Given the description of an element on the screen output the (x, y) to click on. 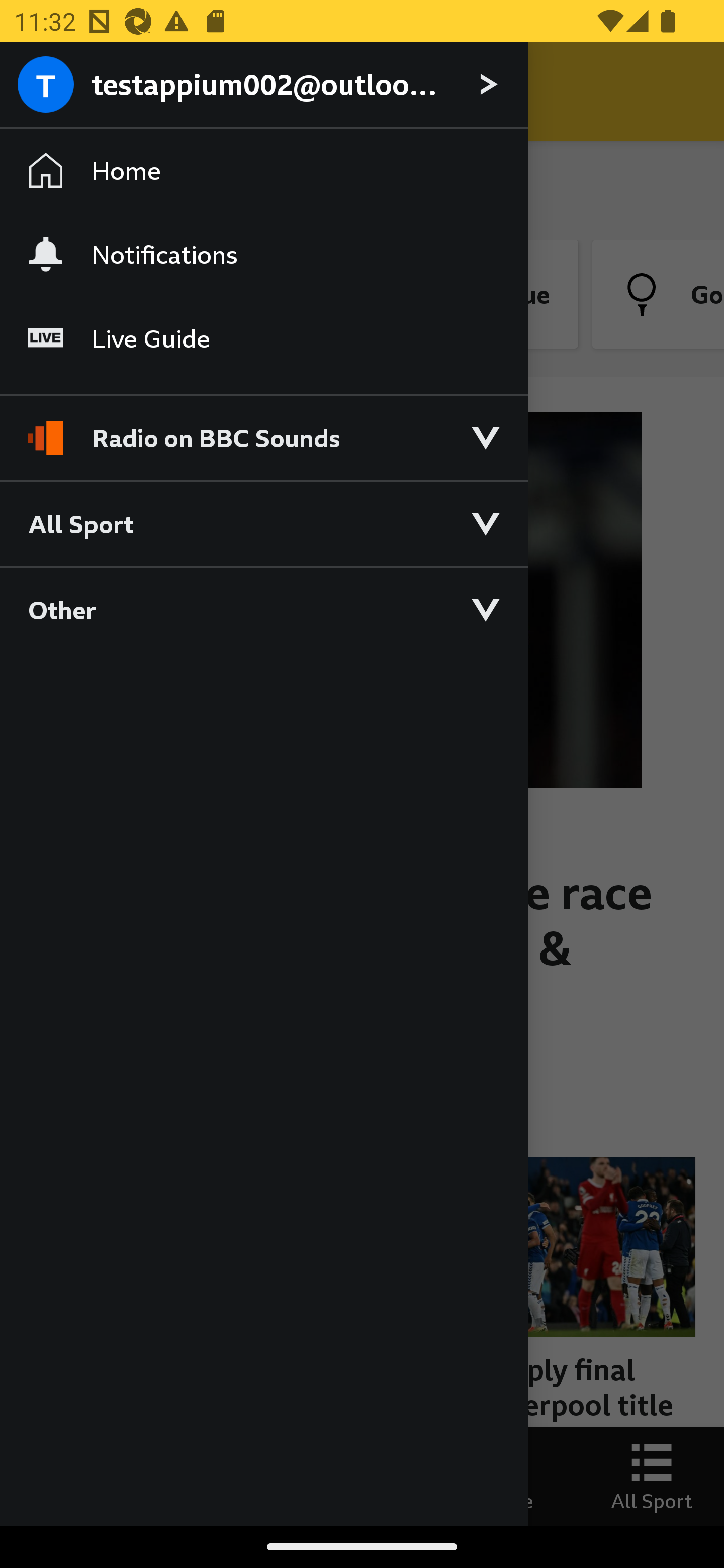
testappium002@outlook.com (263, 85)
Home (263, 170)
Notifications (263, 253)
Live Guide (263, 338)
Radio on BBC Sounds (263, 429)
All Sport (263, 522)
Other (263, 609)
